Given the description of an element on the screen output the (x, y) to click on. 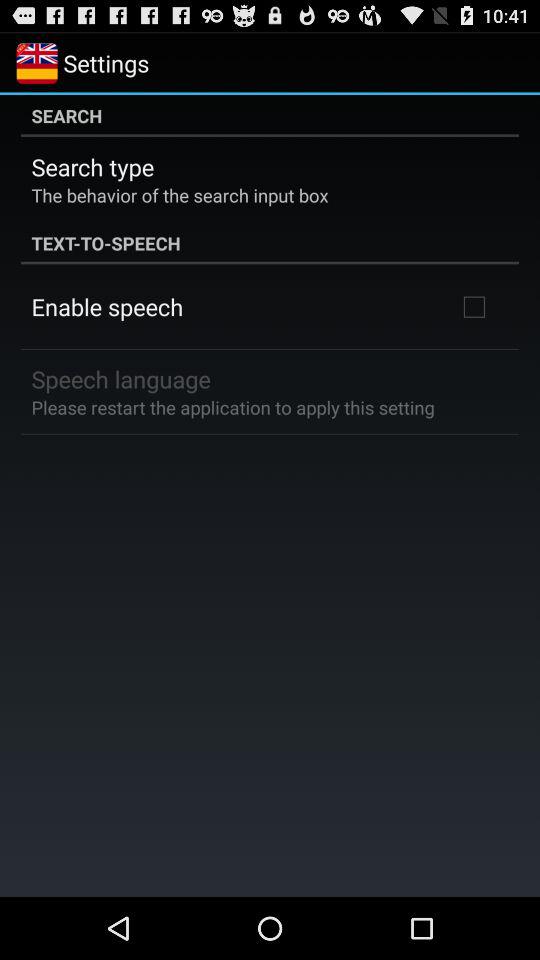
press the item above text-to-speech item (179, 194)
